Given the description of an element on the screen output the (x, y) to click on. 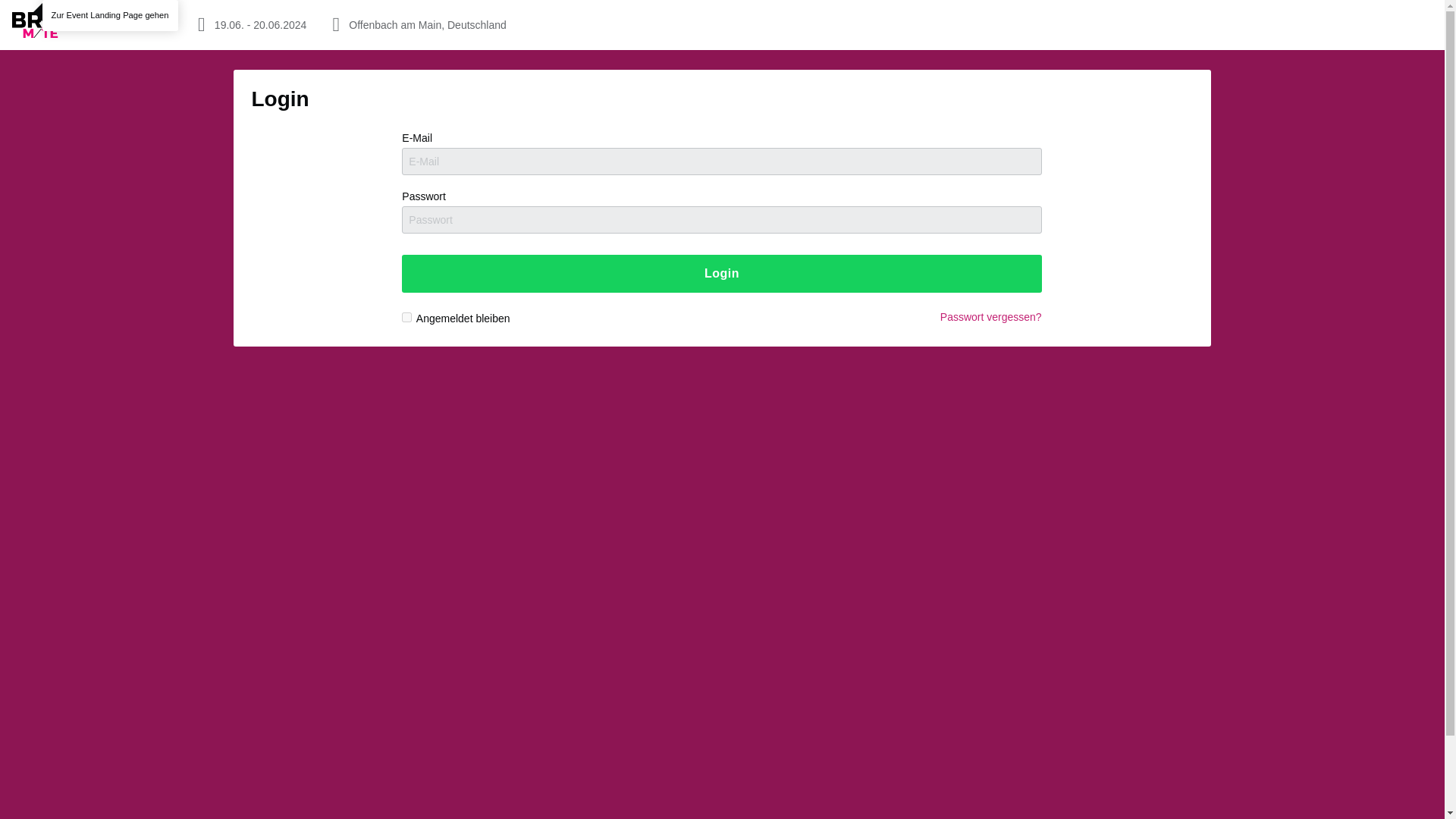
BRANDmate (96, 24)
19.06. - 20.06.2024 (259, 24)
Passwort vergessen? (991, 316)
on (406, 317)
Login (721, 273)
Datum (259, 24)
Offenbach am Main, Deutschland (427, 24)
Google Maps (427, 24)
